Given the description of an element on the screen output the (x, y) to click on. 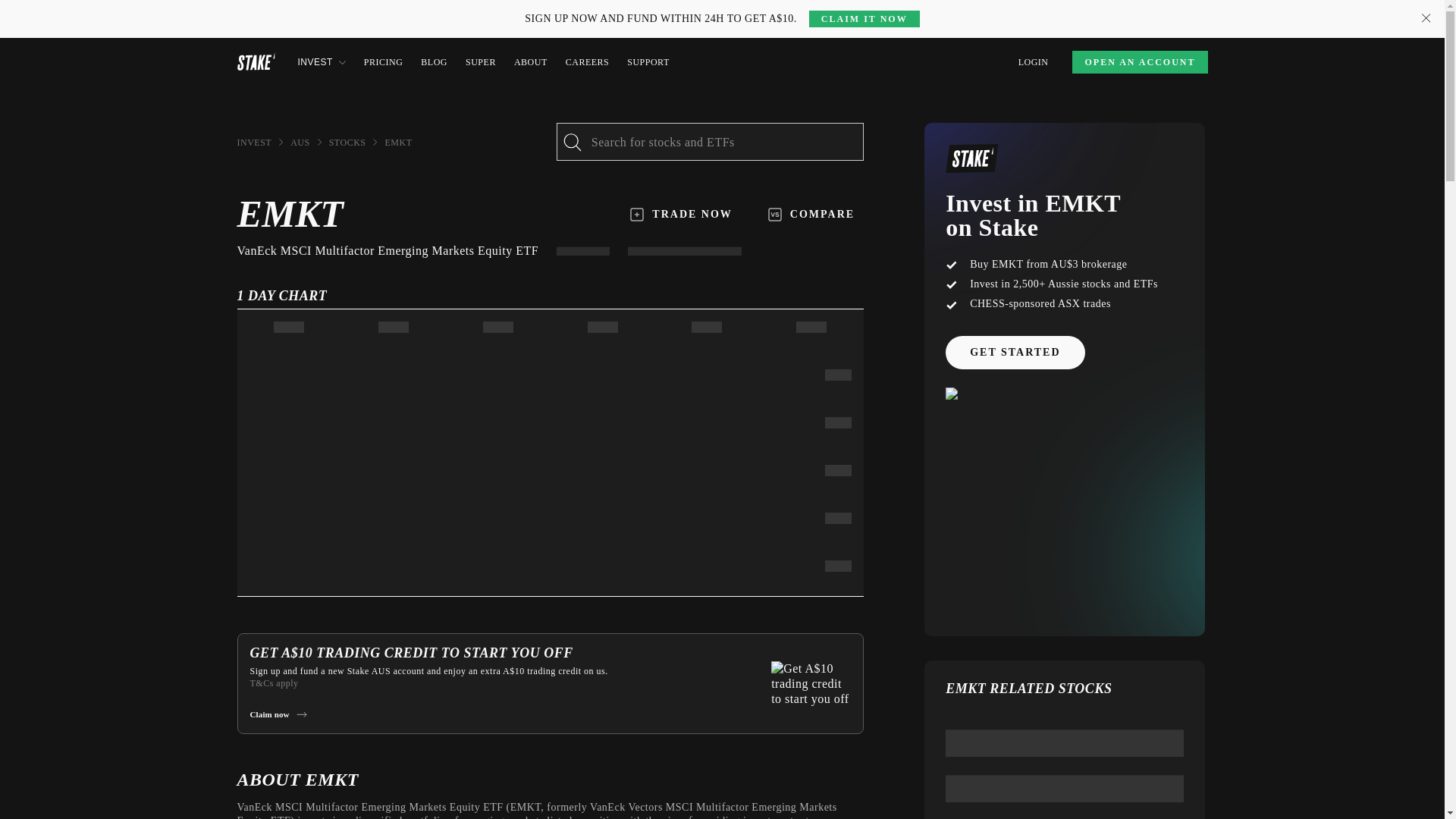
CLAIM IT NOW (864, 18)
INVEST (321, 61)
COMPARE (811, 213)
ABOUT (530, 61)
EMKT (398, 142)
GET STARTED (1014, 352)
LOGIN (1032, 61)
INVEST (252, 142)
PRICING (383, 61)
AUS (299, 142)
